Given the description of an element on the screen output the (x, y) to click on. 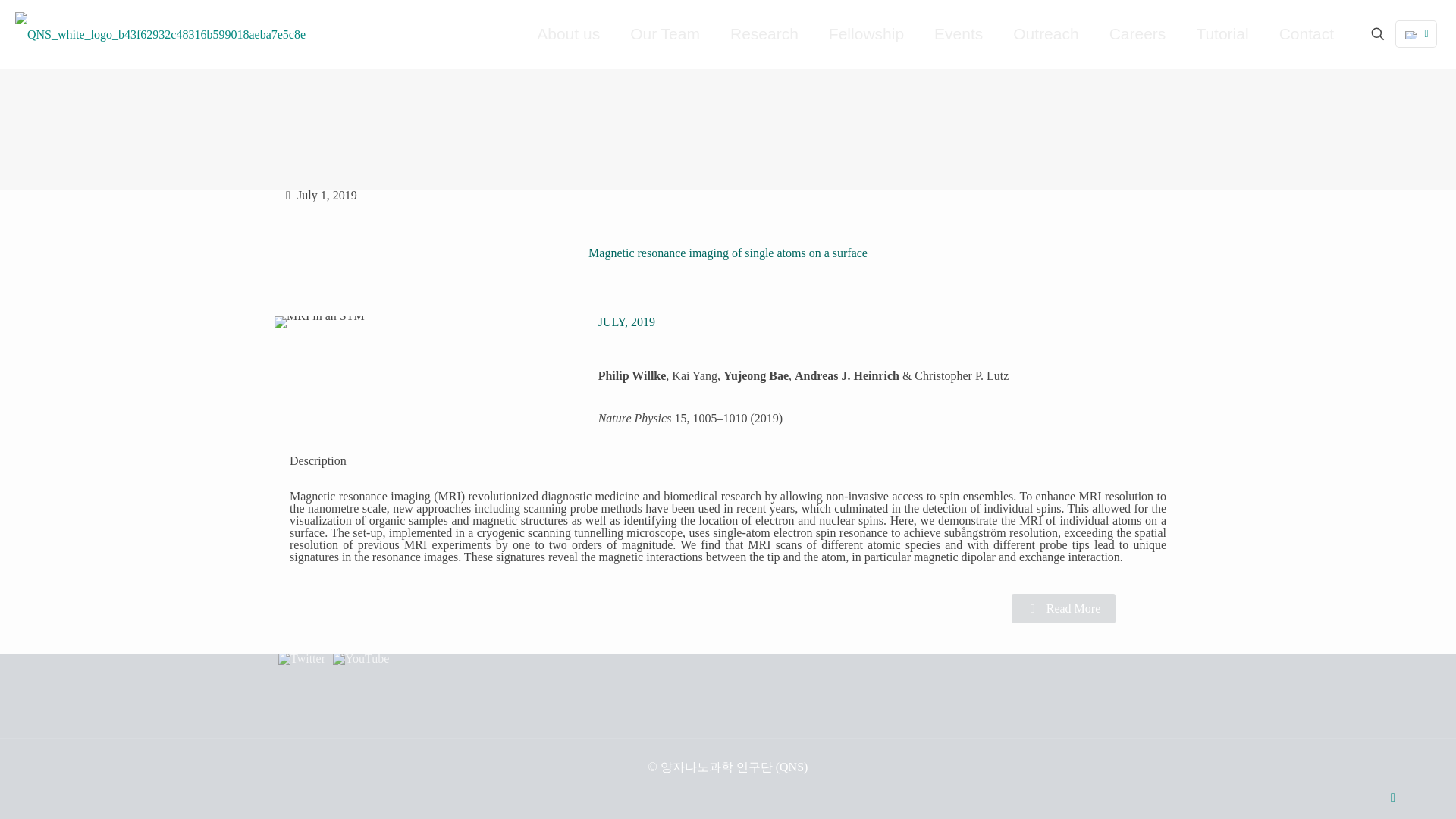
Outreach (1045, 33)
Fellowship (865, 33)
About us (567, 33)
Events (957, 33)
Center for Quantum Nanoscience (159, 33)
Research (763, 33)
Our Team (664, 33)
